Given the description of an element on the screen output the (x, y) to click on. 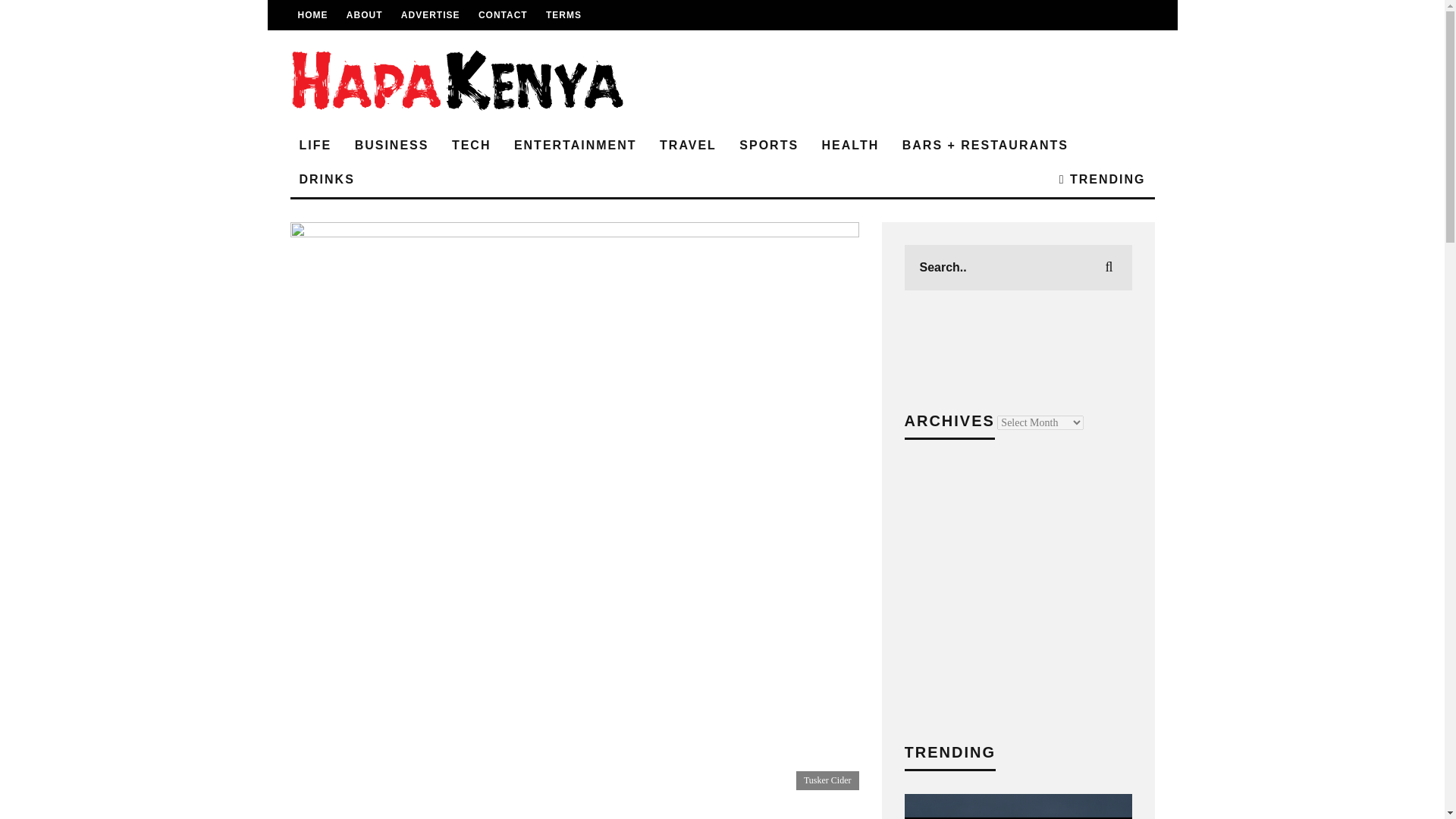
ABOUT (364, 15)
HOME (312, 15)
BUSINESS (392, 145)
LIFE (314, 145)
Log In (721, 445)
CONTACT (503, 15)
ADVERTISE (430, 15)
TERMS (563, 15)
